Given the description of an element on the screen output the (x, y) to click on. 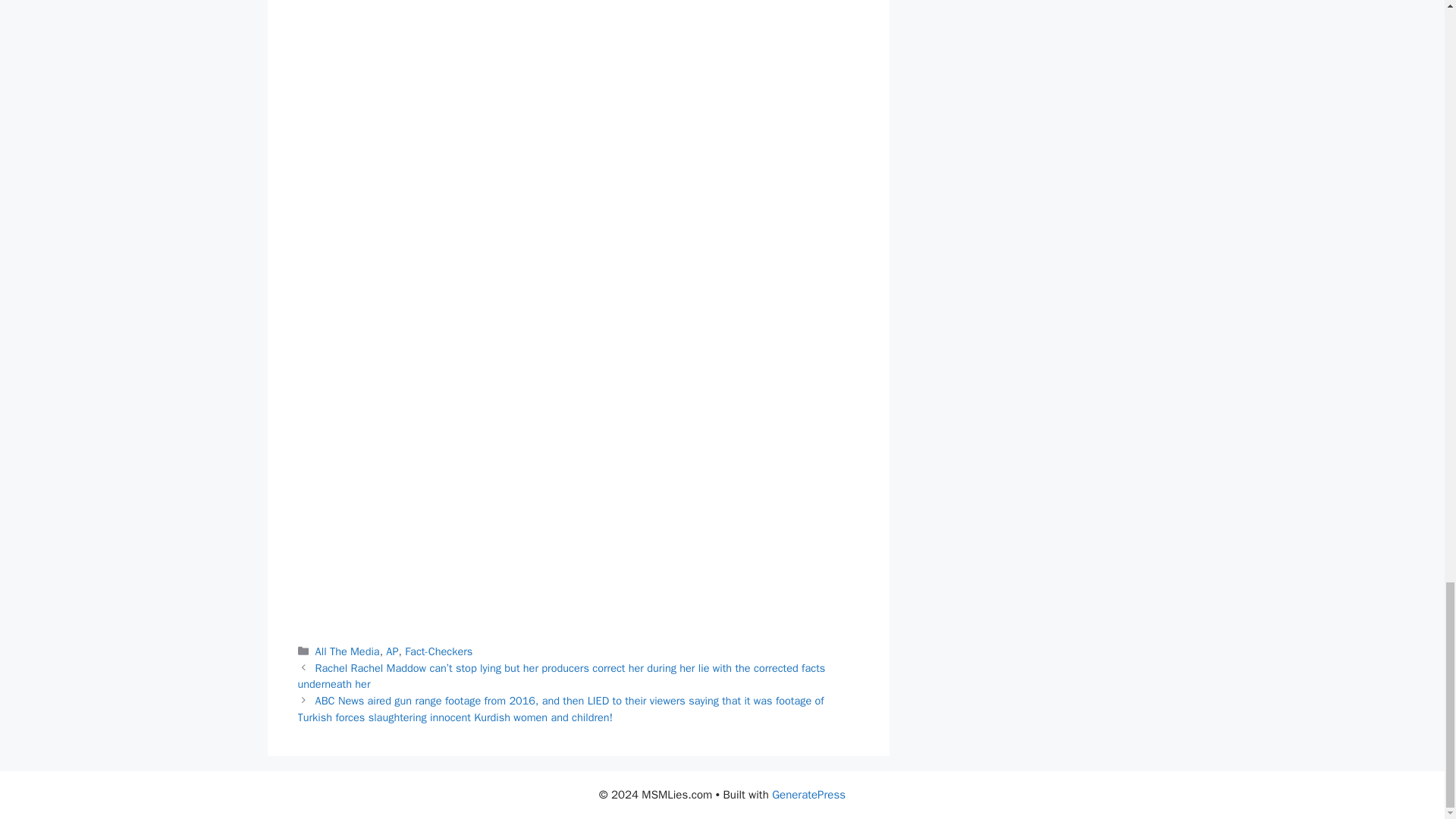
All The Media (347, 651)
AP (391, 651)
Fact-Checkers (437, 651)
